Given the description of an element on the screen output the (x, y) to click on. 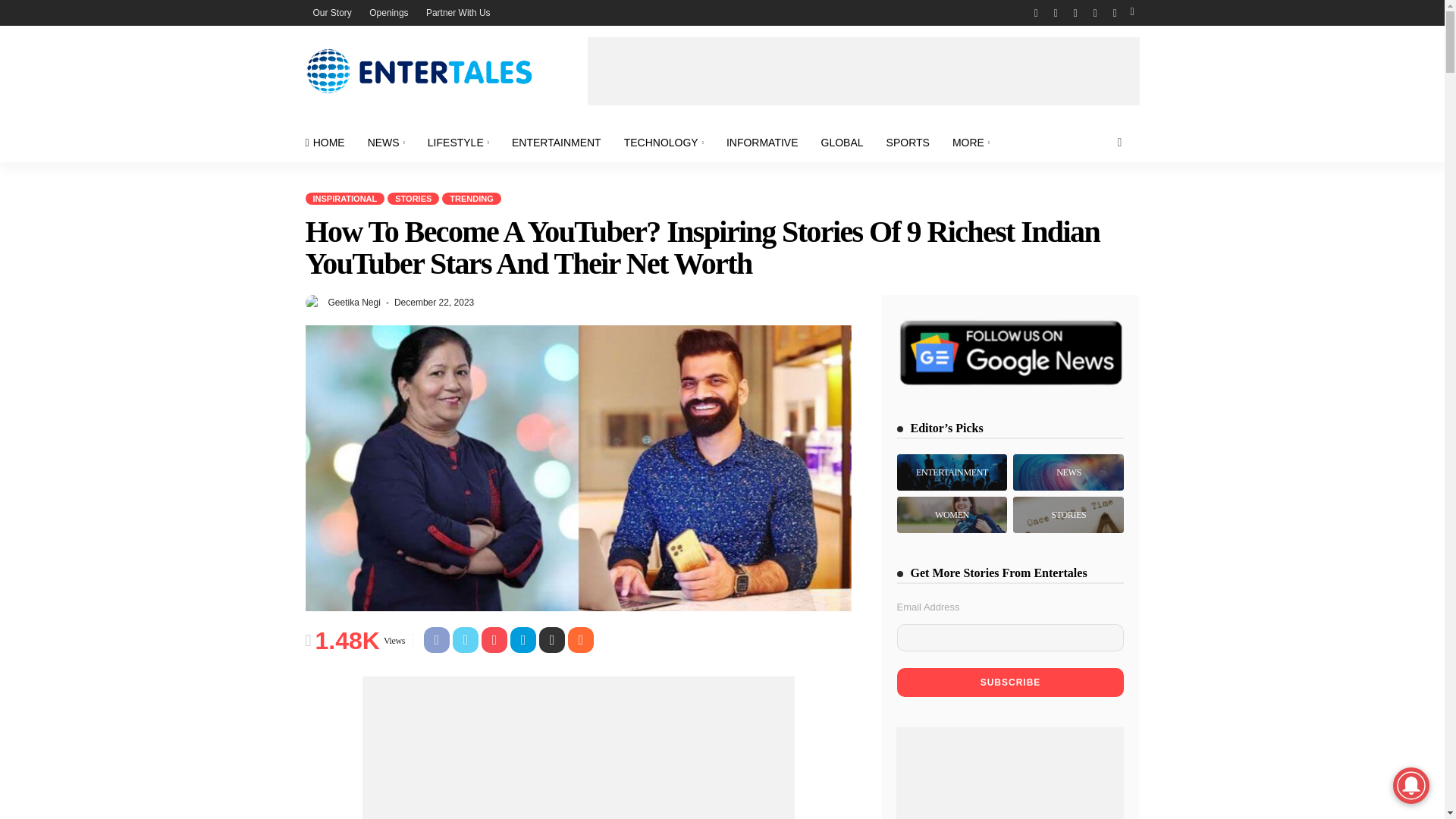
Openings (387, 12)
Subscribe (1010, 682)
Advertisement (862, 70)
Our Story (331, 12)
Partner With Us (458, 12)
